Given the description of an element on the screen output the (x, y) to click on. 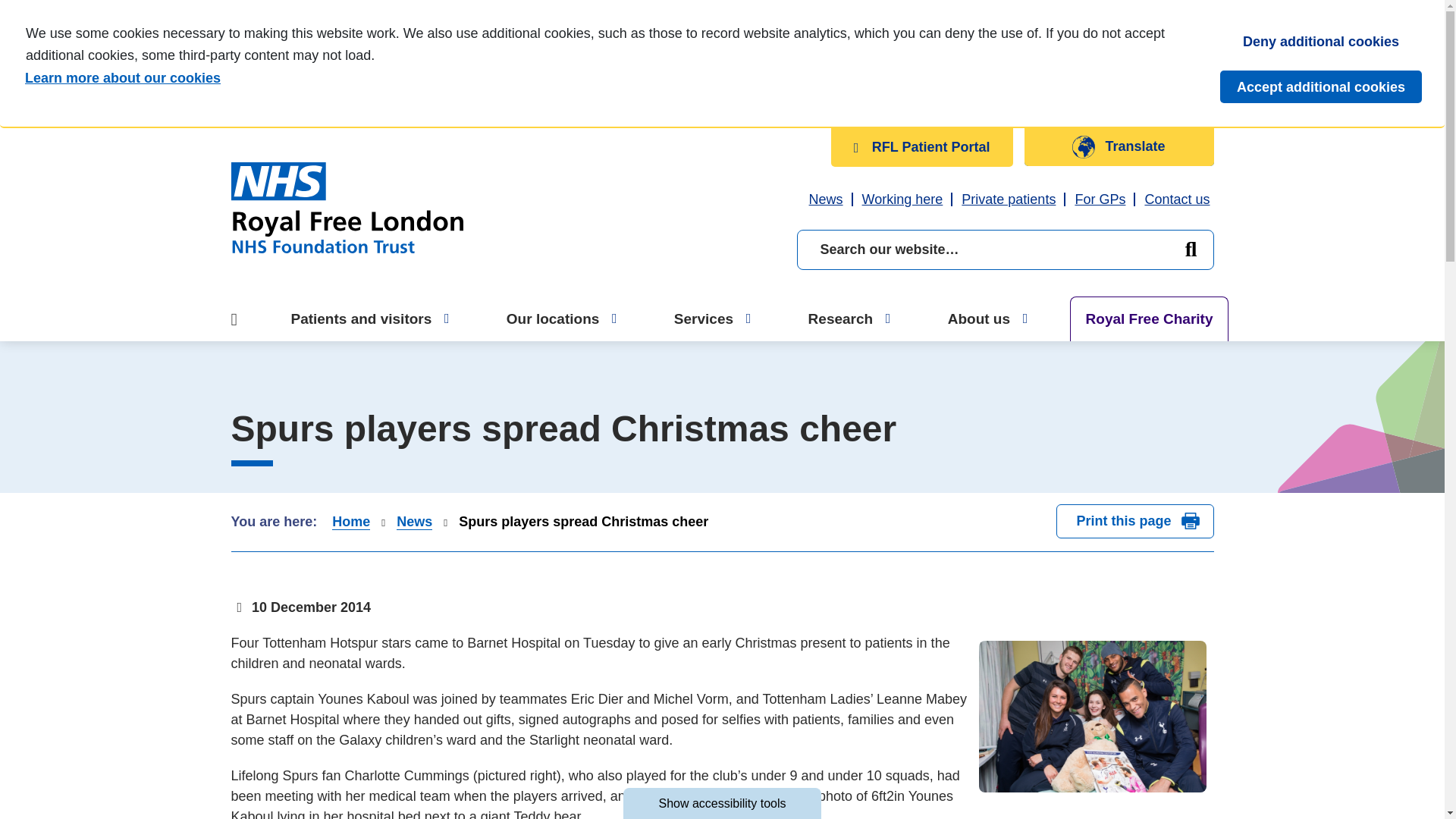
Patient transport (303, 148)
Learn more about our cookies (619, 78)
Private patients (1008, 199)
Day surgery (289, 96)
Search (1189, 250)
Homepage (346, 207)
Contact us (1176, 199)
Visiting patients (296, 186)
Patients and visitors (371, 318)
Outpatient appointments (327, 19)
News (825, 199)
For GPs (1099, 199)
Working here (902, 199)
Change or cancel an appointment (355, 45)
Flu, COVID-19 and sickness bugs (355, 122)
